Given the description of an element on the screen output the (x, y) to click on. 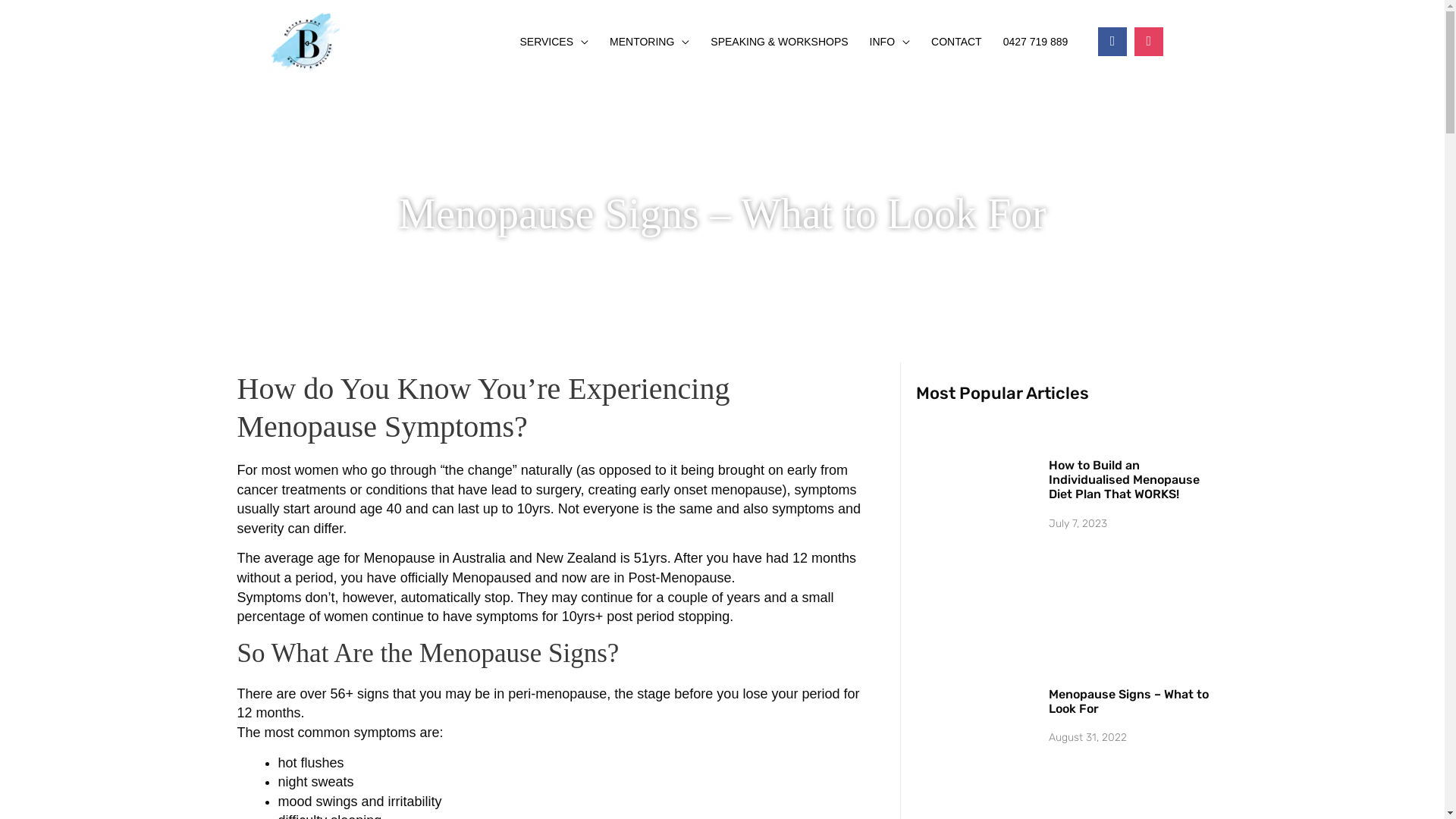
SERVICES Element type: text (553, 41)
SPEAKING & WORKSHOPS Element type: text (778, 41)
INFO Element type: text (889, 41)
Instagram Element type: hover (1148, 41)
0427 719 889 Element type: text (1035, 41)
Facebook Element type: hover (1112, 41)
MENTORING Element type: text (649, 41)
CONTACT Element type: text (956, 41)
